Given the description of an element on the screen output the (x, y) to click on. 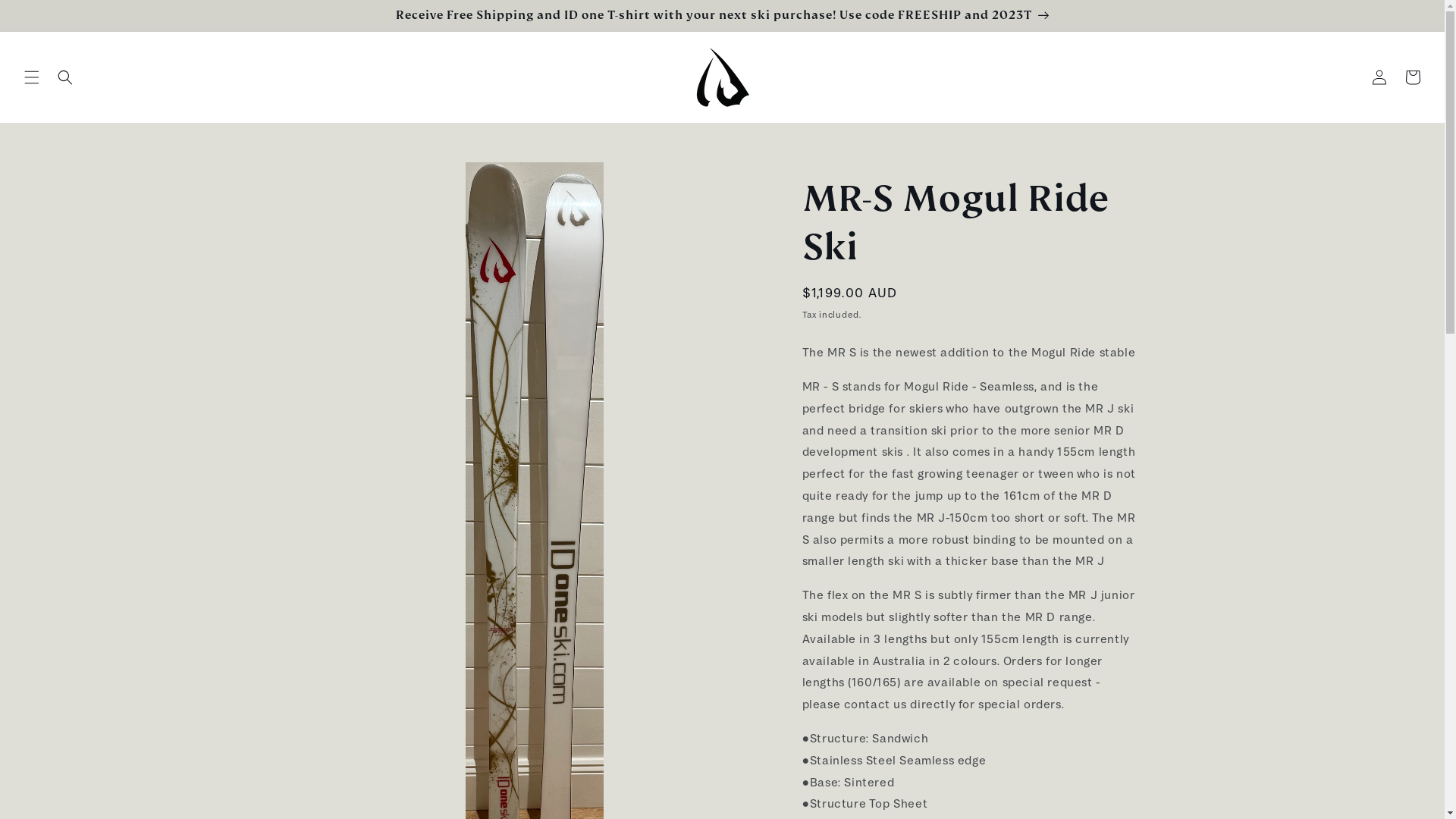
Log in Element type: text (1379, 77)
Skip to product information Element type: text (350, 179)
Cart Element type: text (1412, 77)
